Given the description of an element on the screen output the (x, y) to click on. 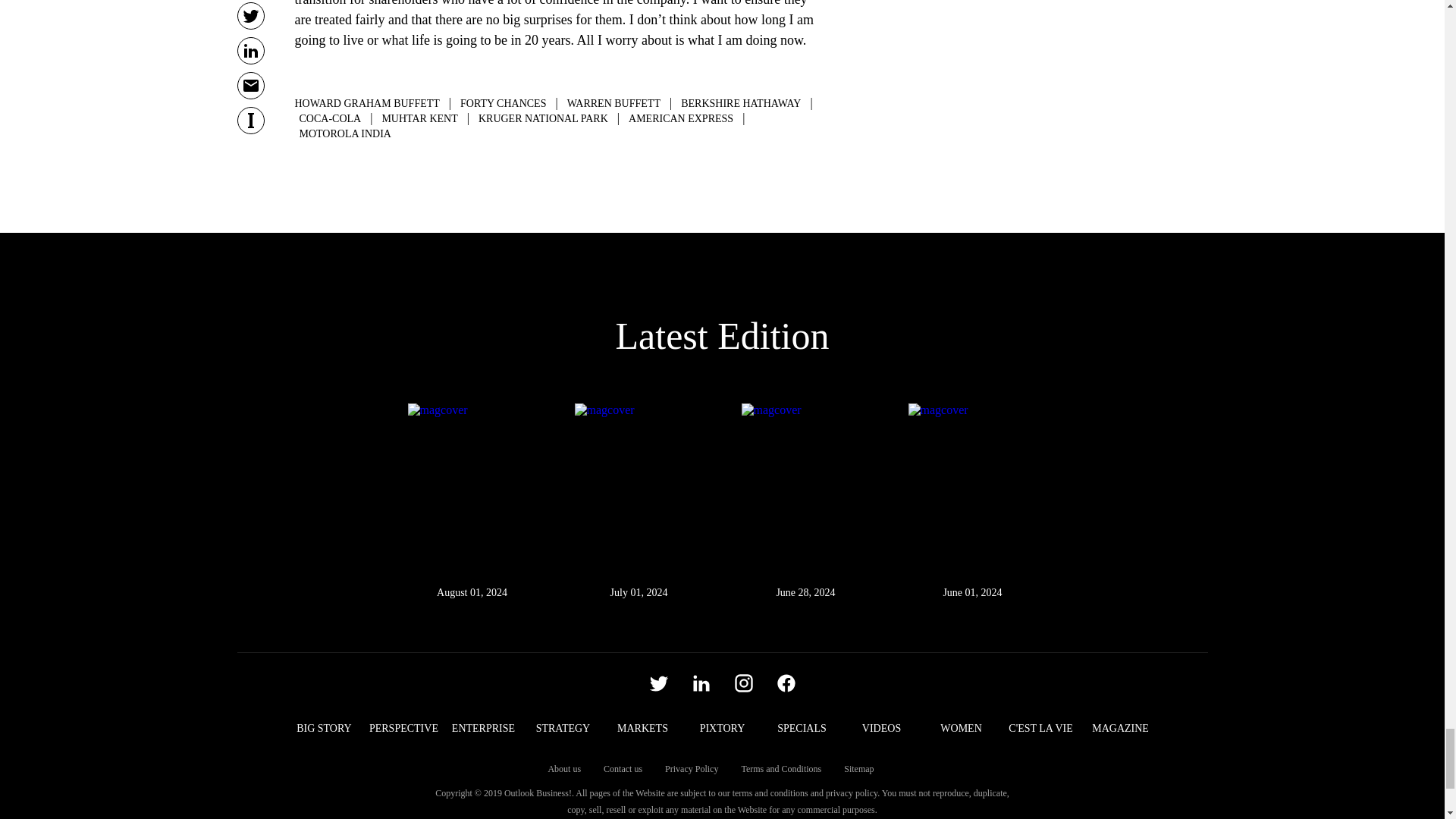
linkedin (700, 682)
instagram (743, 682)
twitter (657, 682)
User Profile (785, 682)
